Given the description of an element on the screen output the (x, y) to click on. 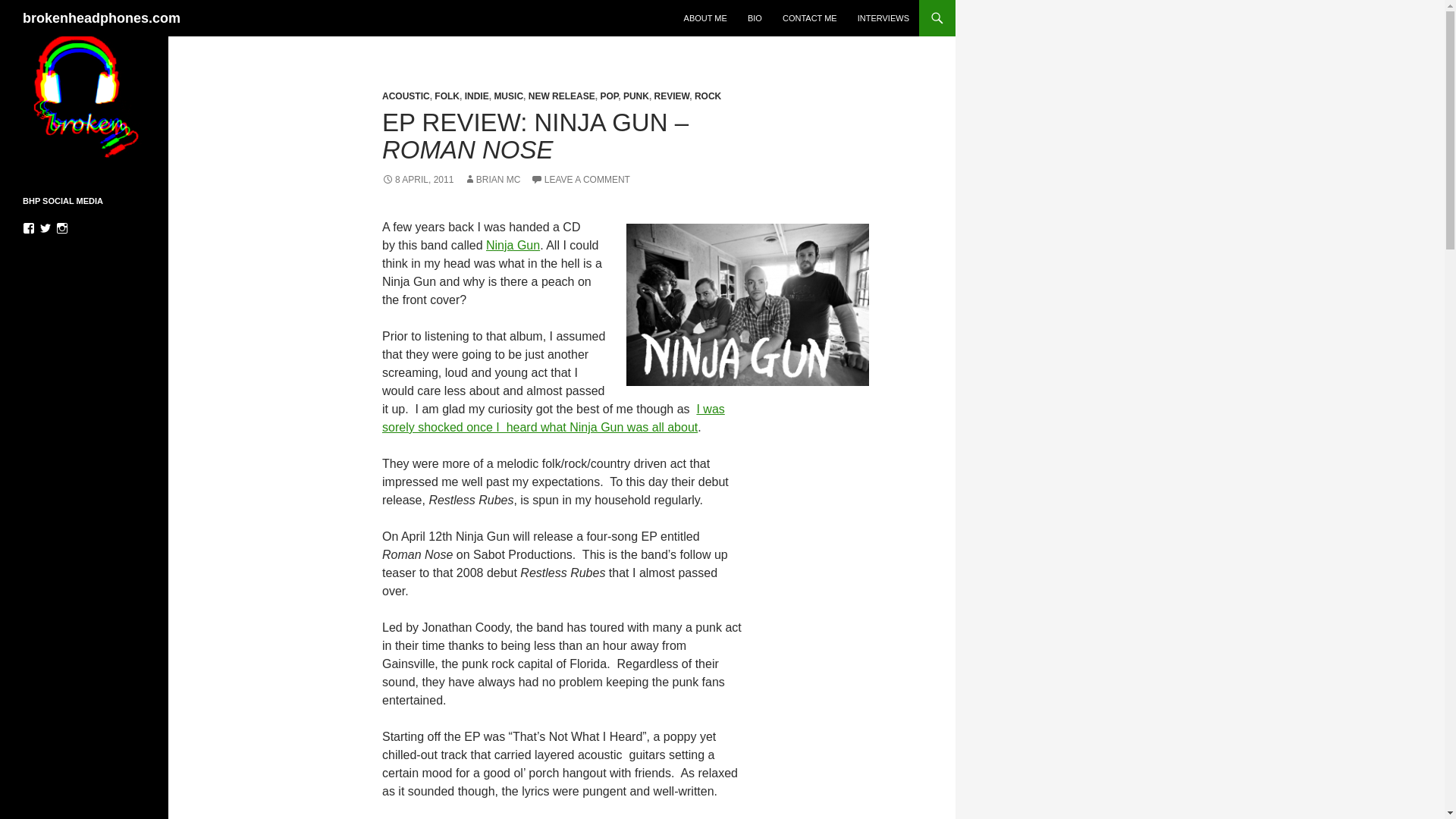
brokenheadphones.com (101, 18)
PUNK (636, 95)
8 APRIL, 2011 (416, 179)
FOLK (446, 95)
Ninja Gun (513, 245)
MUSIC (507, 95)
REVIEW (671, 95)
BRIAN MC (492, 179)
ROCK (707, 95)
